Given the description of an element on the screen output the (x, y) to click on. 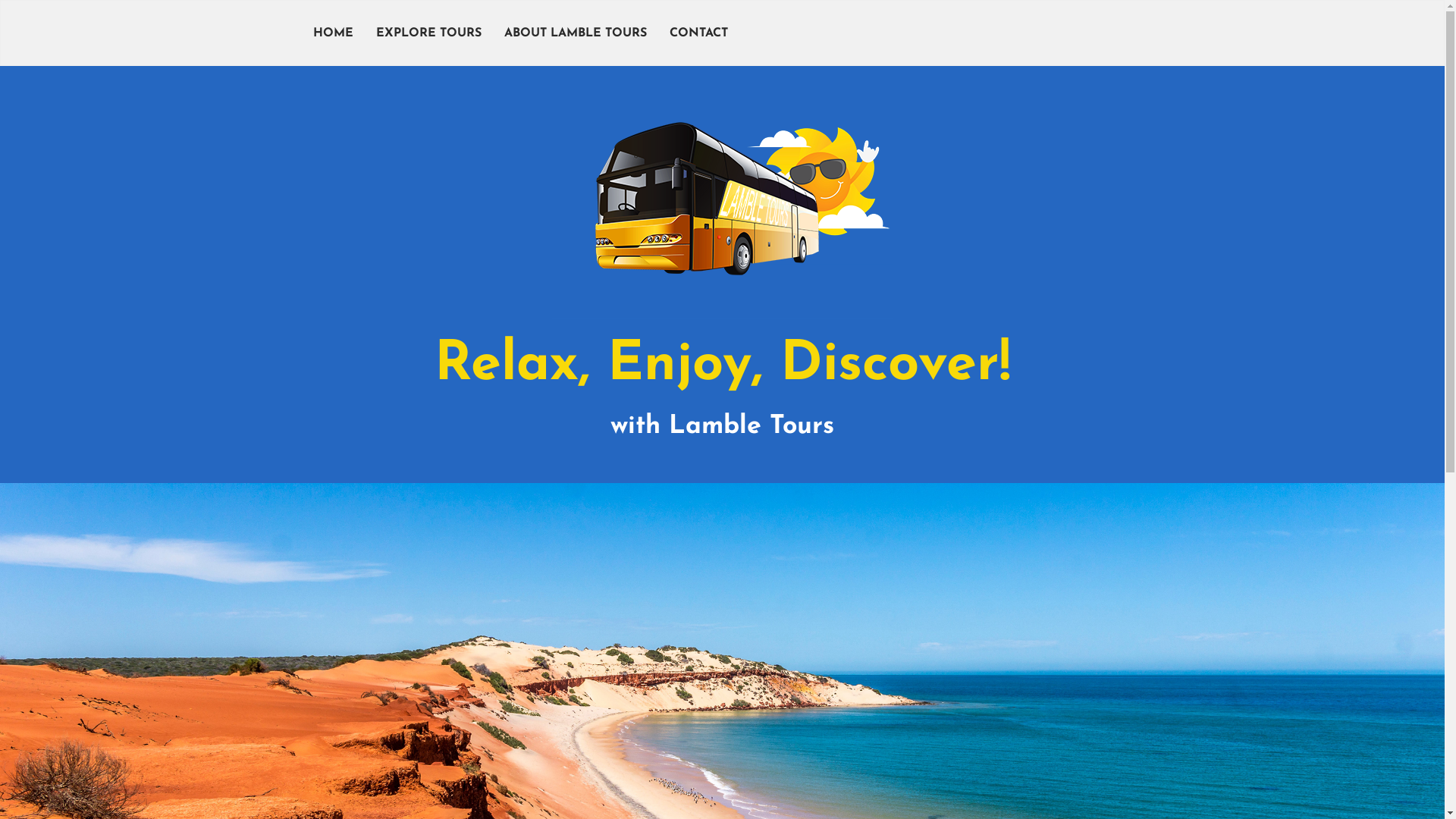
ABOUT LAMBLE TOURS Element type: text (575, 32)
EXPLORE TOURS Element type: text (428, 32)
CONTACT Element type: text (698, 32)
HOME Element type: text (332, 32)
